Given the description of an element on the screen output the (x, y) to click on. 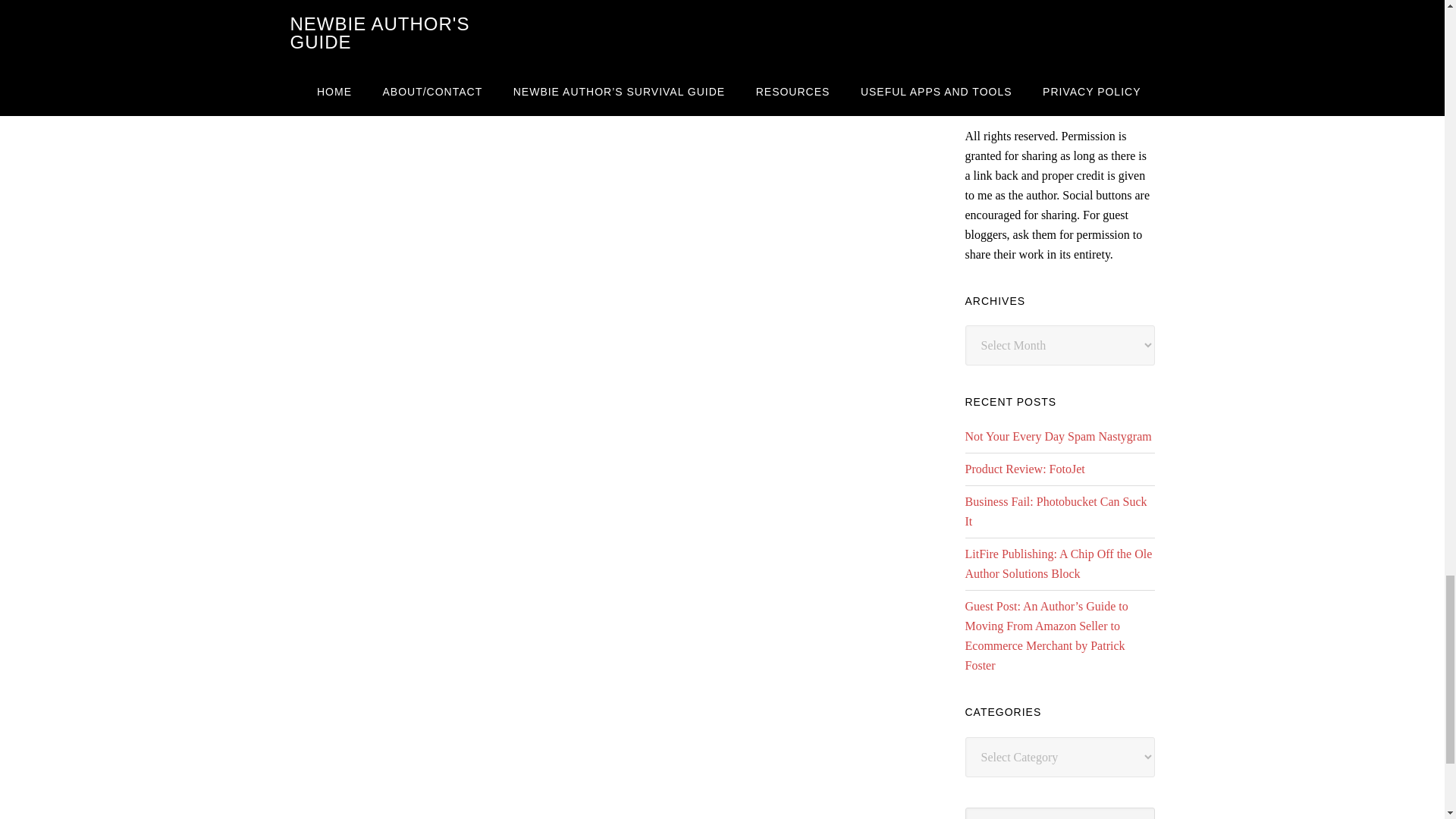
Not Your Every Day Spam Nastygram (1057, 436)
Product Review: FotoJet (1023, 468)
Business Fail: Photobucket Can Suck It (1055, 511)
